Given the description of an element on the screen output the (x, y) to click on. 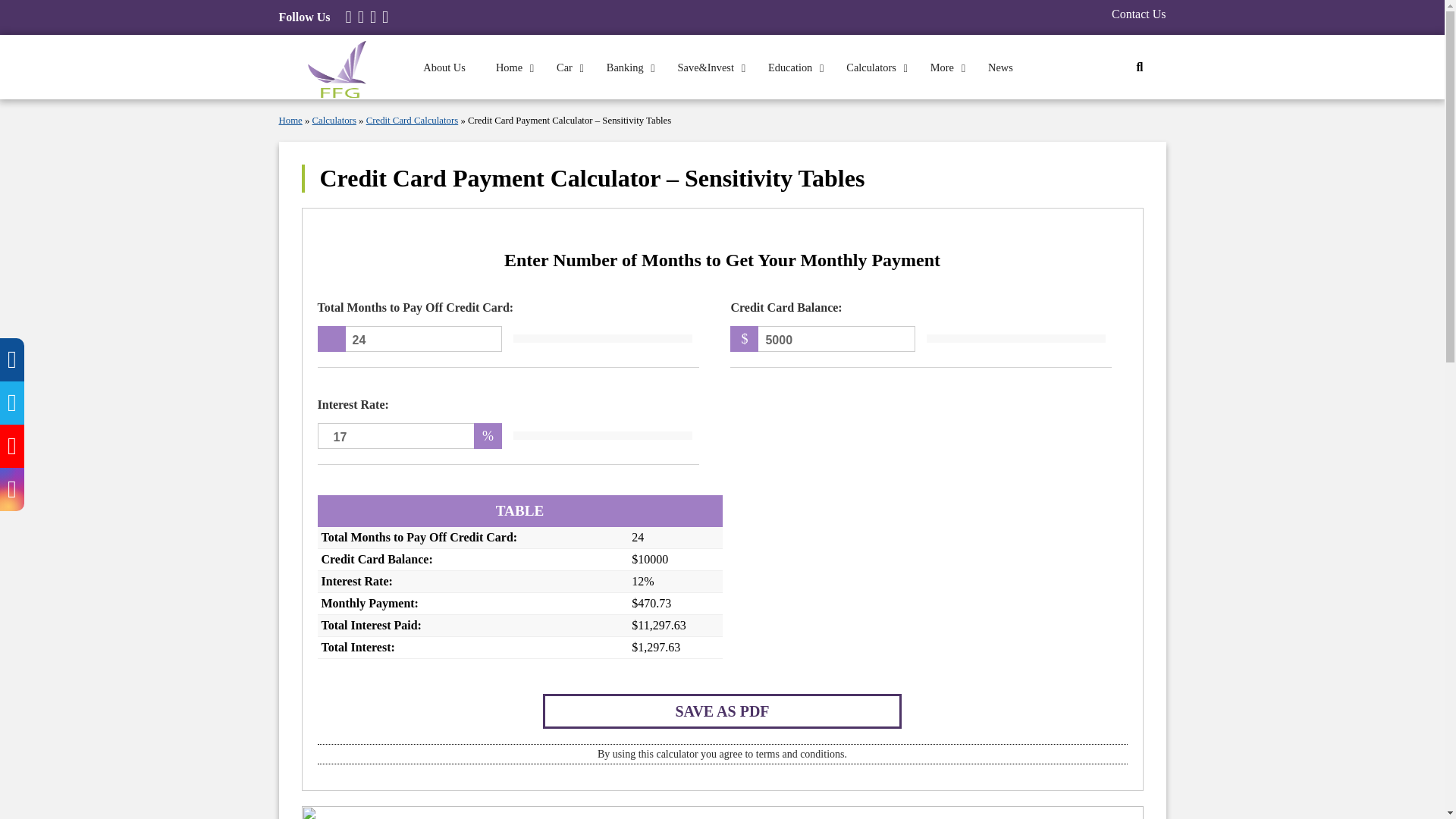
5000 (822, 338)
Contact Us (1139, 13)
Banking (626, 67)
24 (409, 338)
Home (510, 67)
17 (409, 435)
About Us (443, 67)
